Given the description of an element on the screen output the (x, y) to click on. 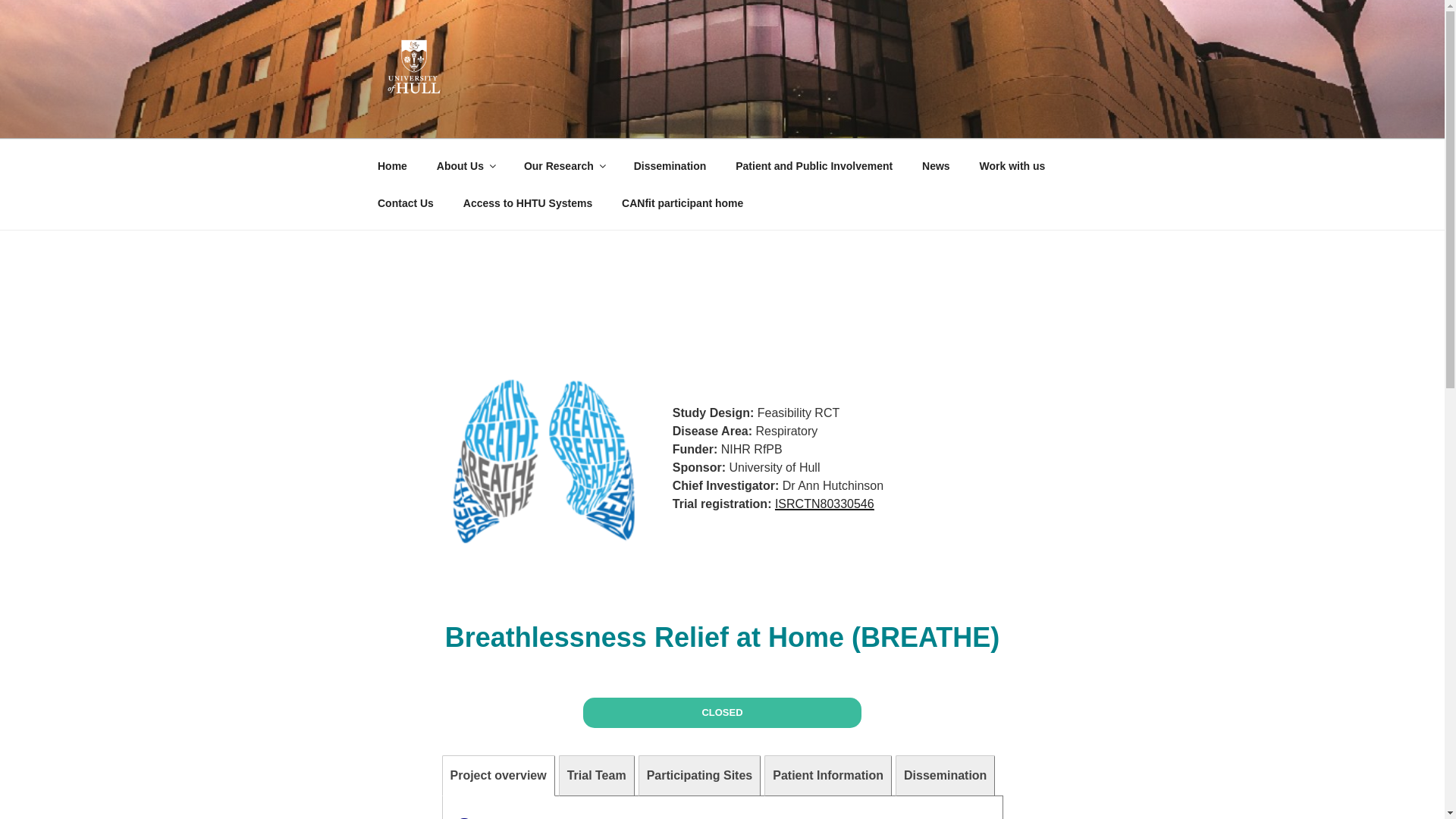
Dissemination (669, 165)
About Us (464, 165)
Work with us (1012, 165)
News (935, 165)
ISRCTN80330546 (824, 503)
CANfit participant home (682, 203)
Our Research (564, 165)
Patient and Public Involvement (813, 165)
Home (392, 165)
CLOSED (722, 712)
Contact Us (405, 203)
Access to HHTU Systems (527, 203)
